Given the description of an element on the screen output the (x, y) to click on. 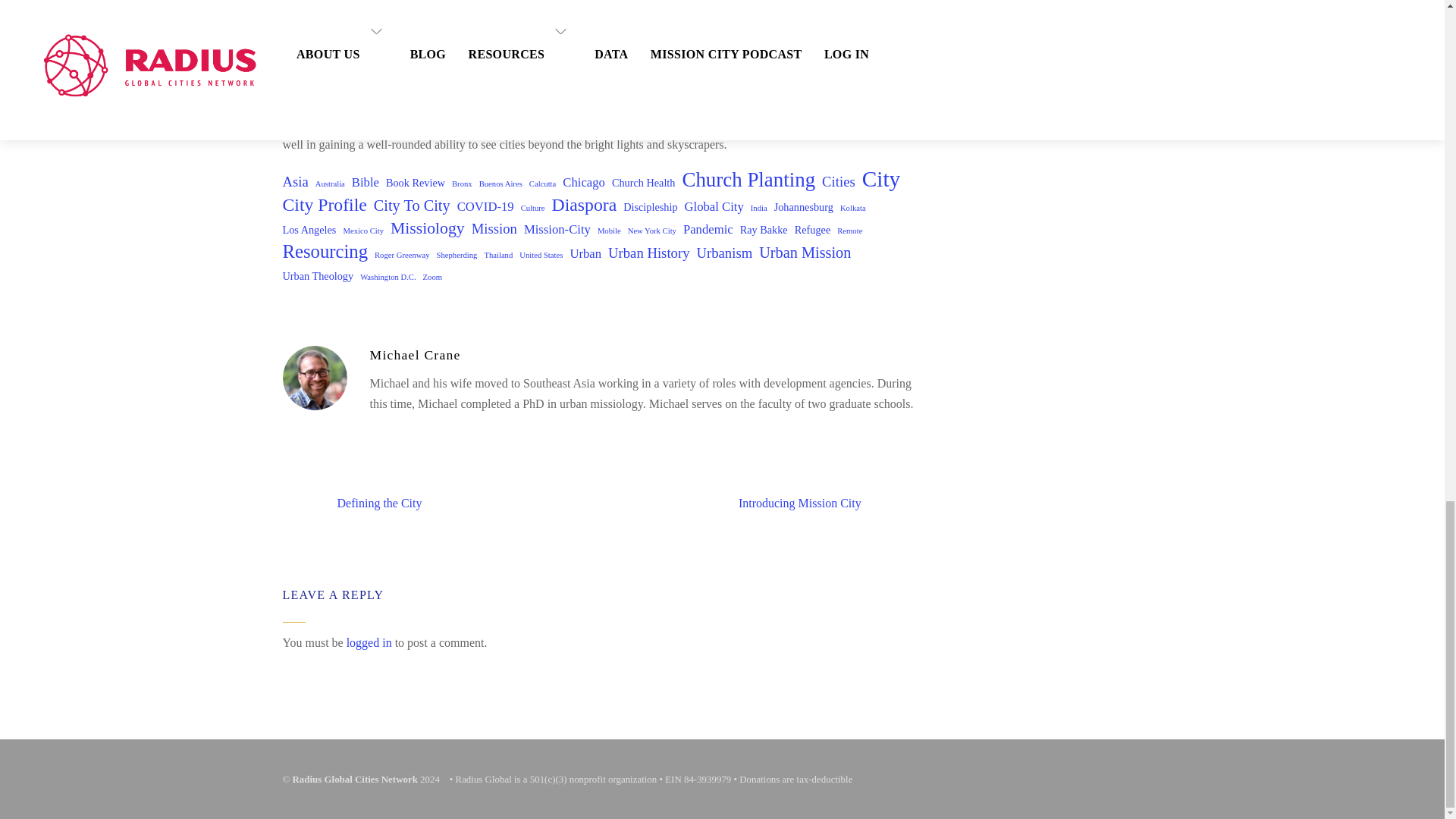
Church Health (643, 182)
City (881, 178)
Bronx (461, 183)
Cities (839, 181)
Church Planting (748, 179)
Bible (365, 181)
Asia (294, 181)
Chicago (583, 181)
Buenos Aires (500, 183)
Book Review (415, 182)
